Given the description of an element on the screen output the (x, y) to click on. 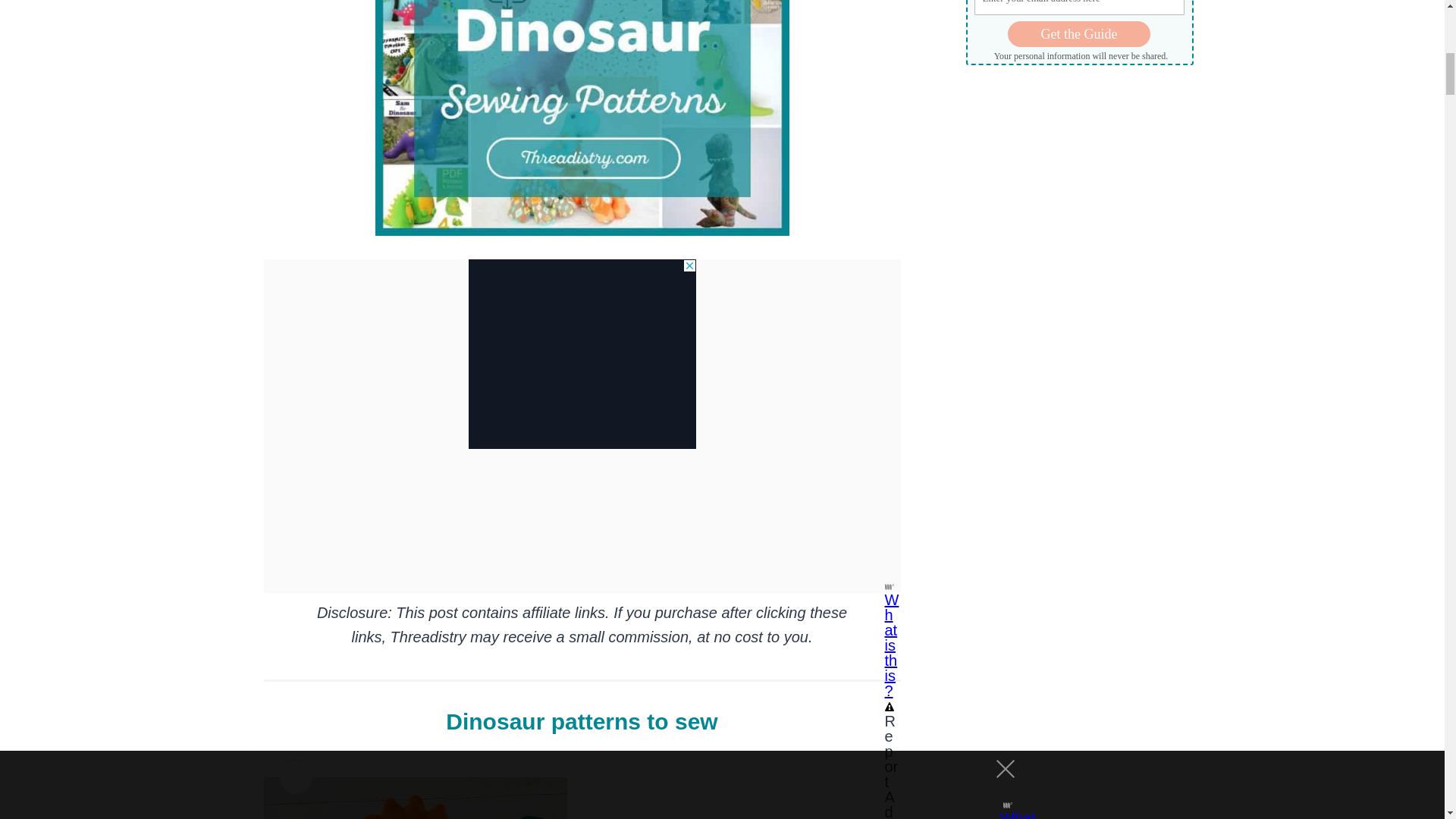
3rd party ad content (581, 353)
